Given the description of an element on the screen output the (x, y) to click on. 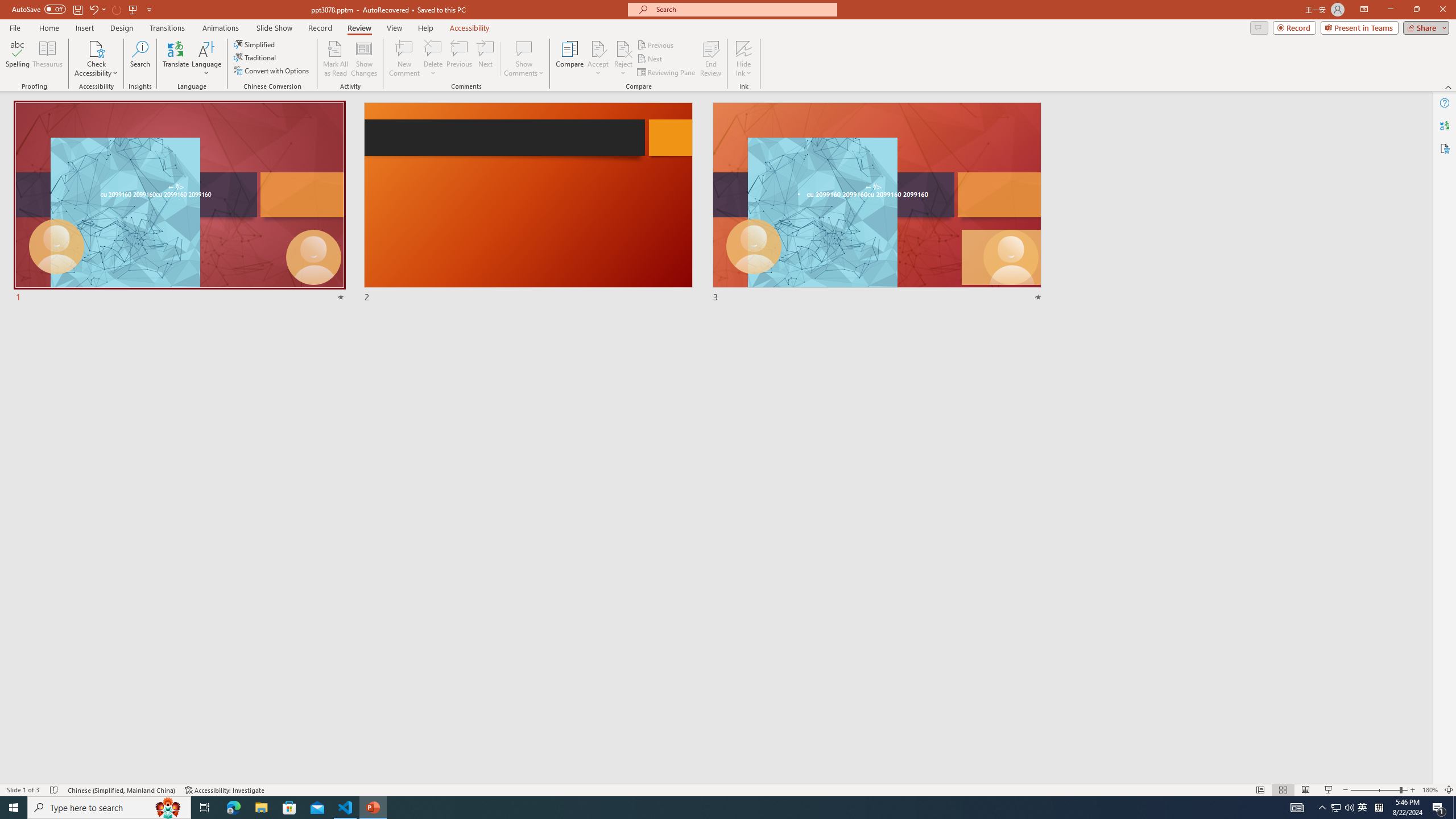
Simplified (254, 44)
Design (122, 28)
Help (1444, 102)
File Tab (15, 27)
Quick Access Toolbar (82, 9)
Delete (432, 48)
Ribbon Display Options (1364, 9)
View (395, 28)
End Review (710, 58)
Accept (598, 58)
Collapse the Ribbon (1448, 86)
Zoom Out (1375, 790)
Home (48, 28)
Mark All as Read (335, 58)
